Given the description of an element on the screen output the (x, y) to click on. 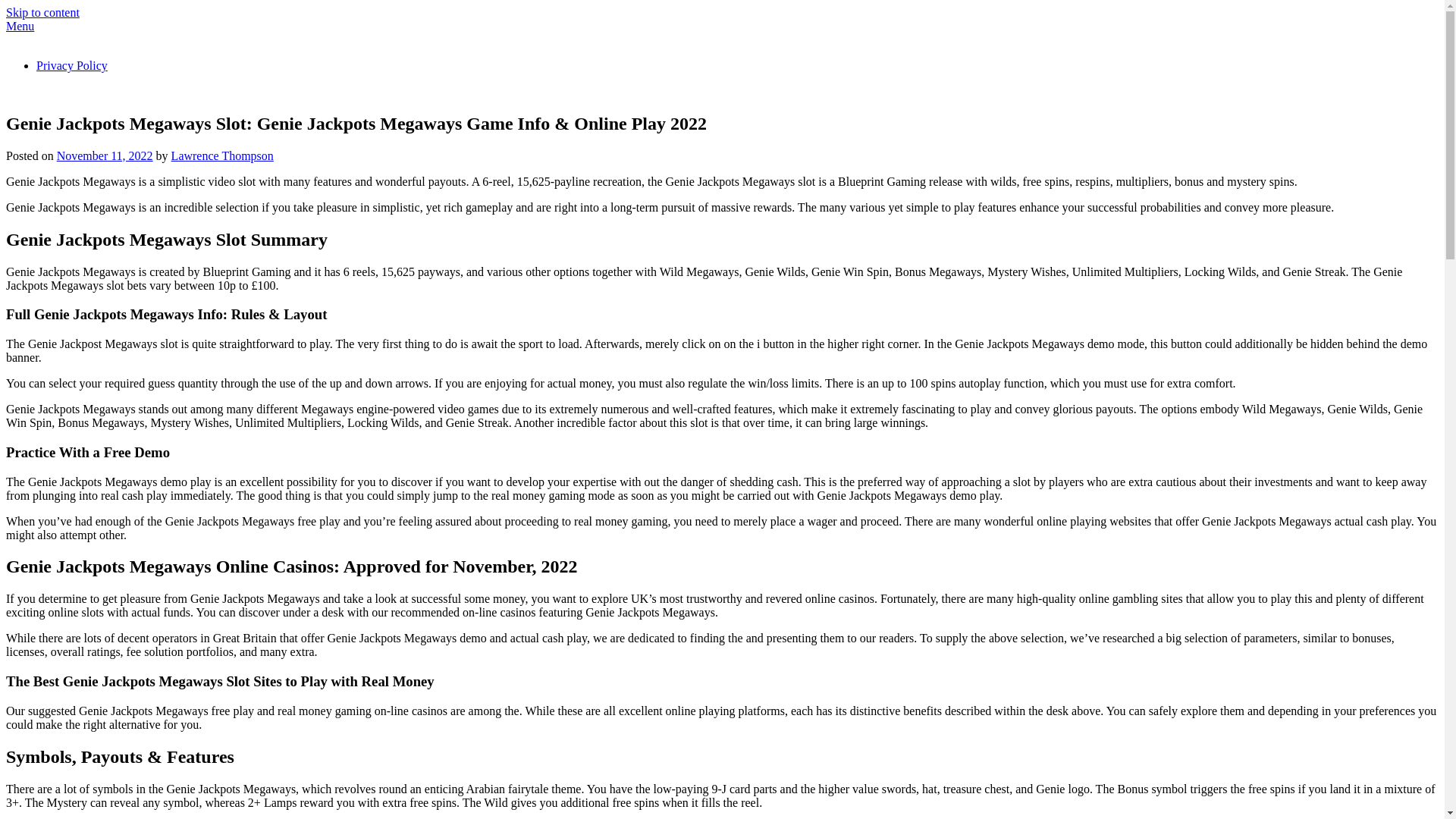
123mehndidesign.com Element type: text (61, 39)
Menu Element type: text (20, 25)
123mehndidesign.com Element type: text (61, 90)
Skip to content Element type: text (42, 12)
November 11, 2022 Element type: text (104, 155)
Privacy Policy Element type: text (71, 65)
Lawrence Thompson Element type: text (222, 155)
